Given the description of an element on the screen output the (x, y) to click on. 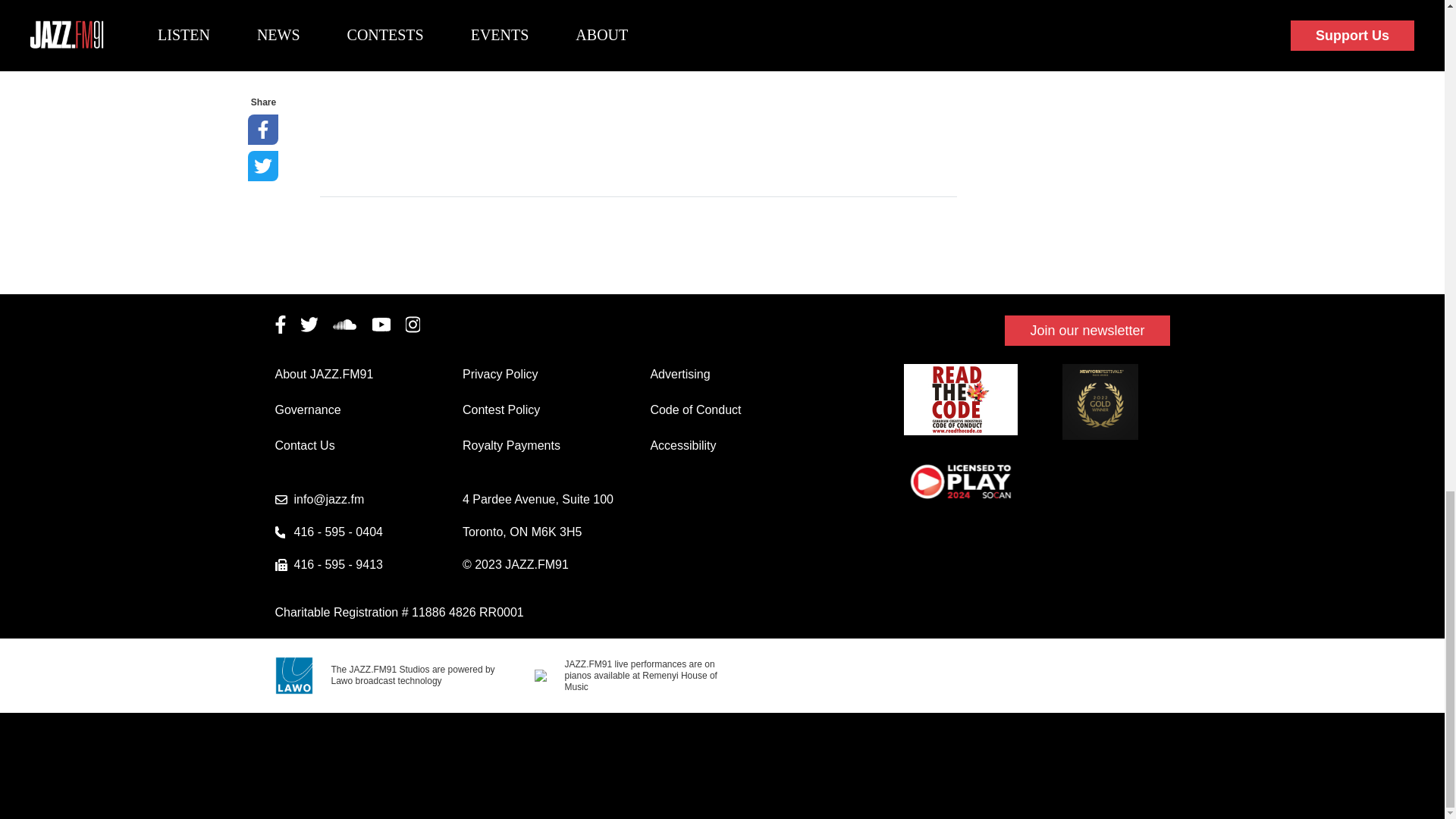
Code of Conduct (695, 409)
Privacy Policy (500, 373)
Accessibility (682, 445)
Royalty Payments (511, 445)
Advertising (679, 373)
Contest Policy (501, 409)
Contact Us (304, 445)
Governance (307, 409)
Join our newsletter (1086, 330)
About JAZZ.FM91 (323, 373)
